Given the description of an element on the screen output the (x, y) to click on. 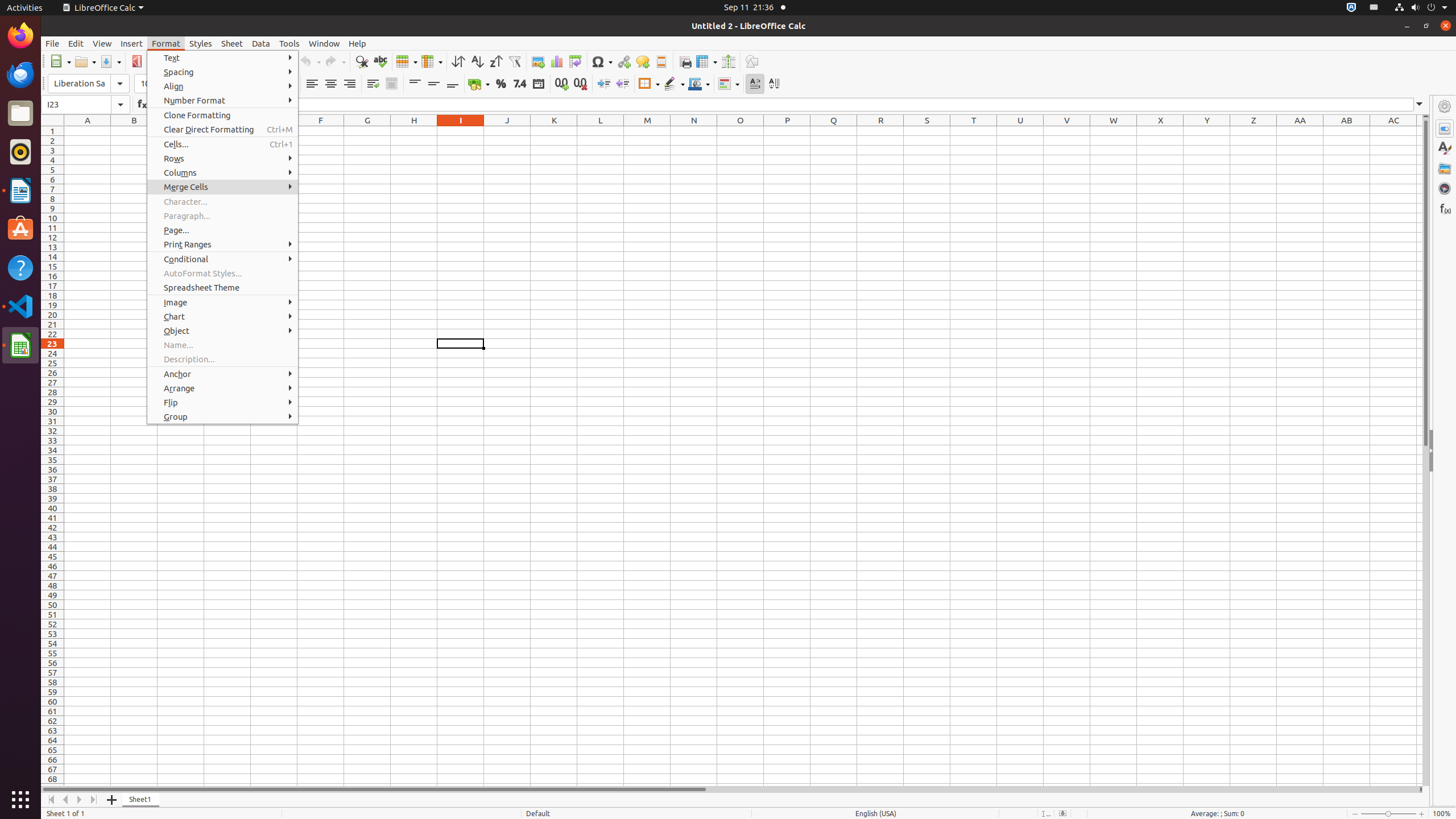
Find & Replace Element type: toggle-button (361, 61)
Save Element type: push-button (109, 61)
Tools Element type: menu (289, 43)
T1 Element type: table-cell (973, 130)
Merge Cells Element type: menu-item (357, 200)
